Given the description of an element on the screen output the (x, y) to click on. 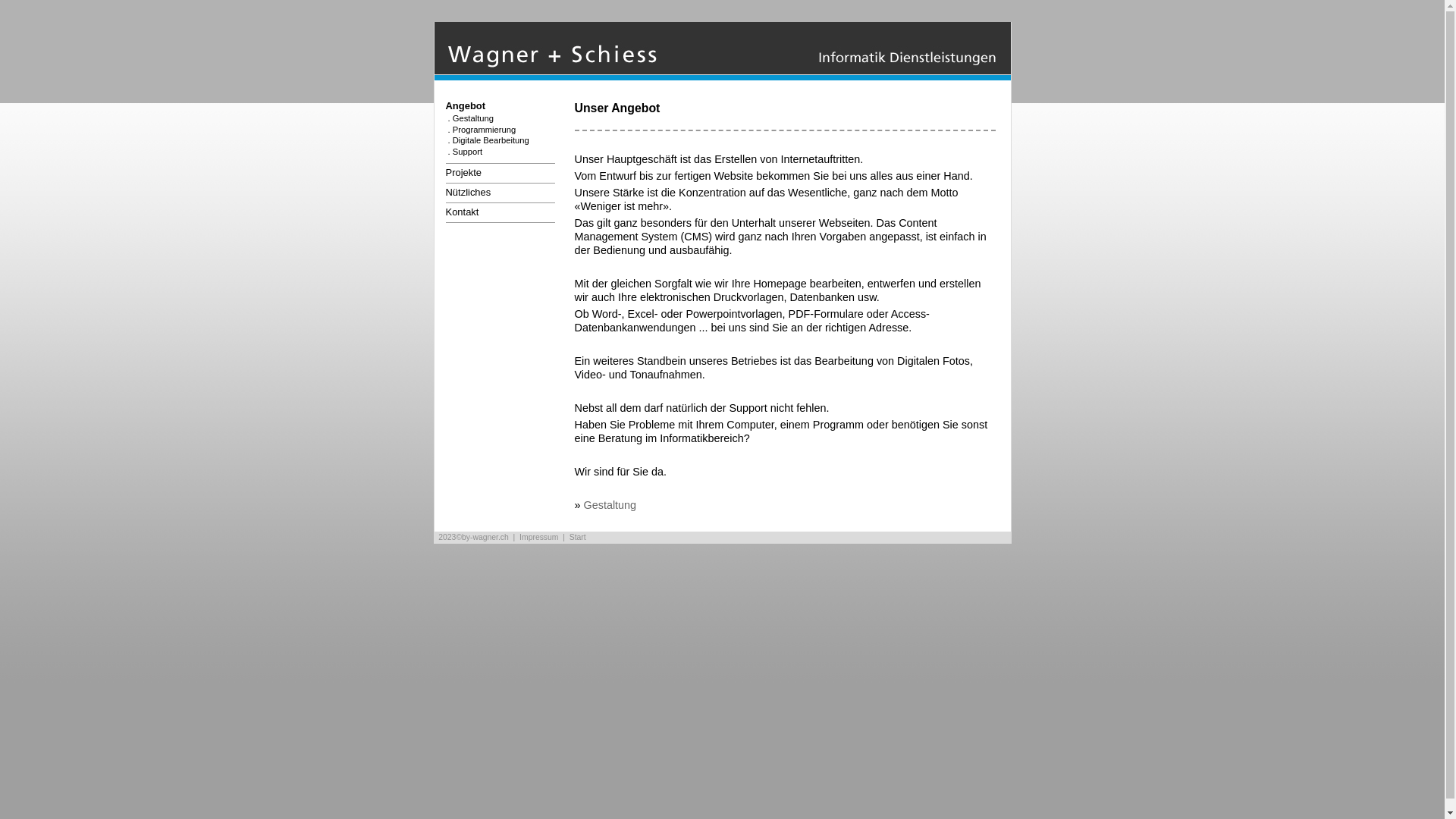
Gestaltung Element type: text (610, 504)
Projekte Element type: text (463, 172)
Angebot Element type: text (465, 105)
Start Element type: hover (721, 75)
. Programmierung Element type: text (480, 129)
. Support Element type: text (463, 151)
Impressum Element type: text (538, 537)
. Gestaltung Element type: text (469, 117)
Kontakt Element type: text (462, 211)
. Digitale Bearbeitung Element type: text (486, 139)
Start Element type: text (577, 537)
